Given the description of an element on the screen output the (x, y) to click on. 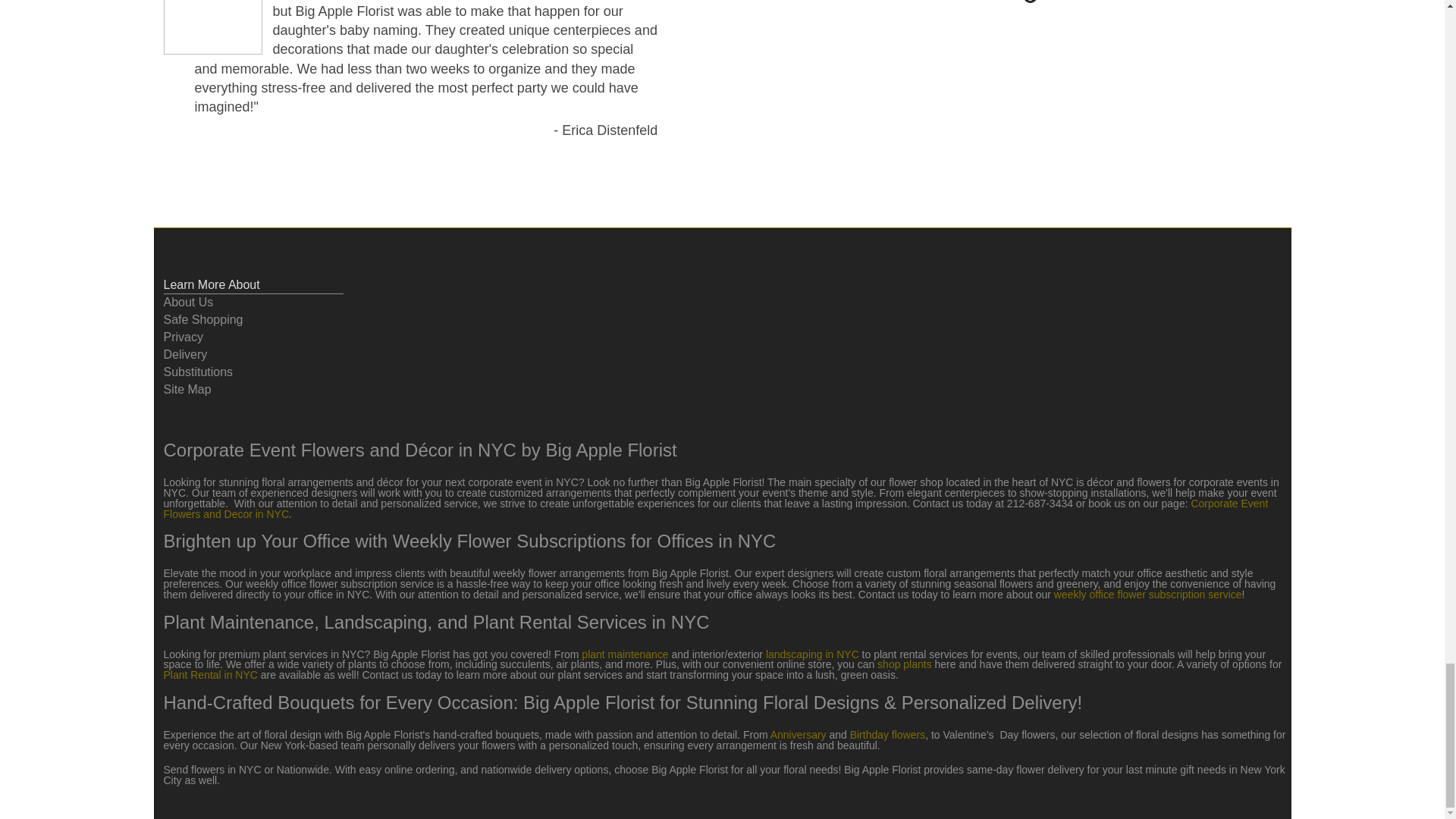
NYC Landscapers - Booking Page (812, 653)
Plant maintenance services in NYC (624, 653)
Send Birthday Flowers (885, 734)
Order Anniversary Flowers (798, 734)
NYC Plant Rental (210, 674)
Corporate Event Flowers and Decor in NYC - Booking Page (715, 508)
